Given the description of an element on the screen output the (x, y) to click on. 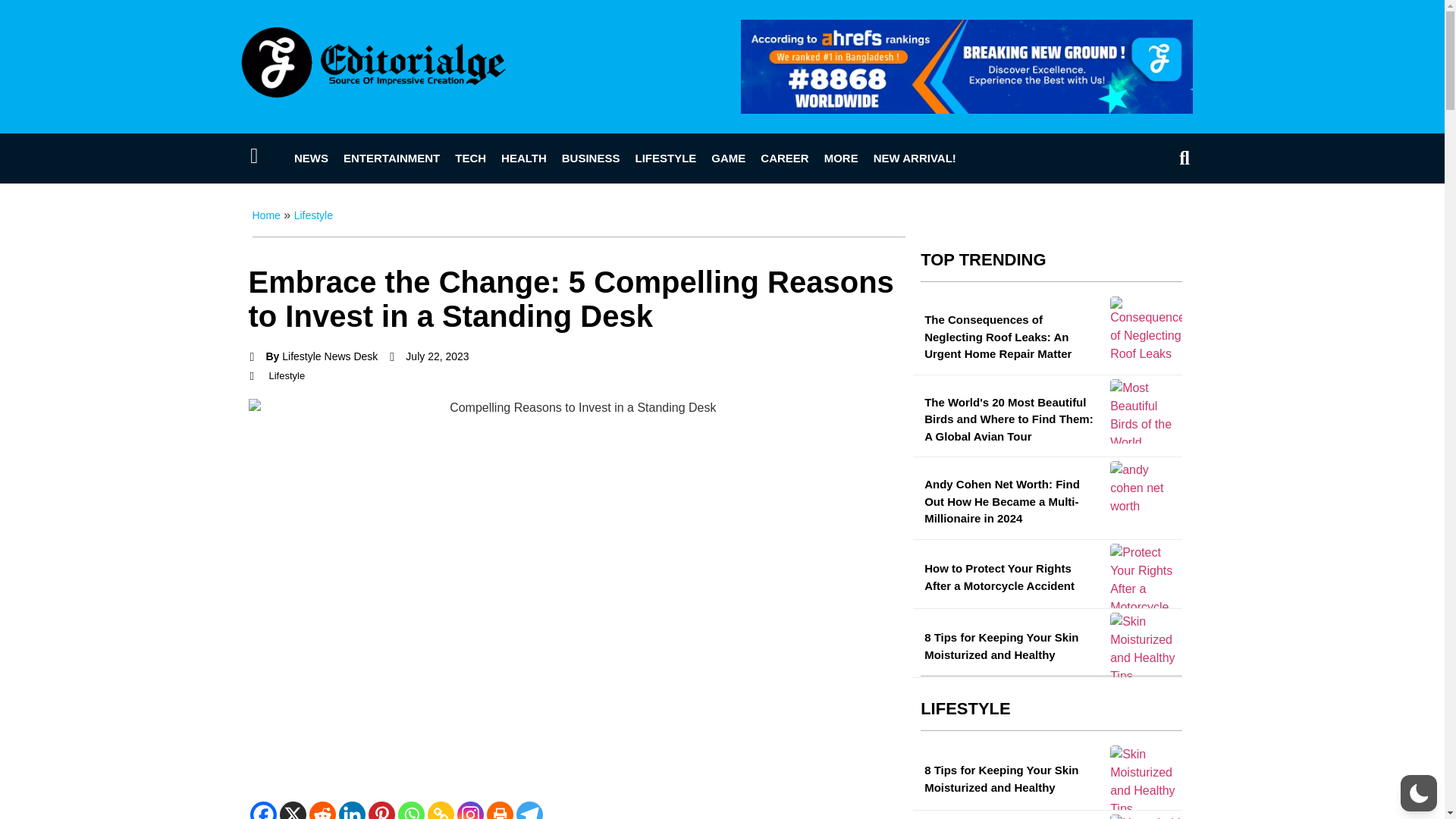
Linkedin (351, 810)
Print (499, 810)
Copy Link (441, 810)
BUSINESS (590, 158)
Pinterest (381, 810)
HEALTH (523, 158)
Facebook (263, 810)
LIFESTYLE (665, 158)
Instagram (470, 810)
GAME (727, 158)
